Given the description of an element on the screen output the (x, y) to click on. 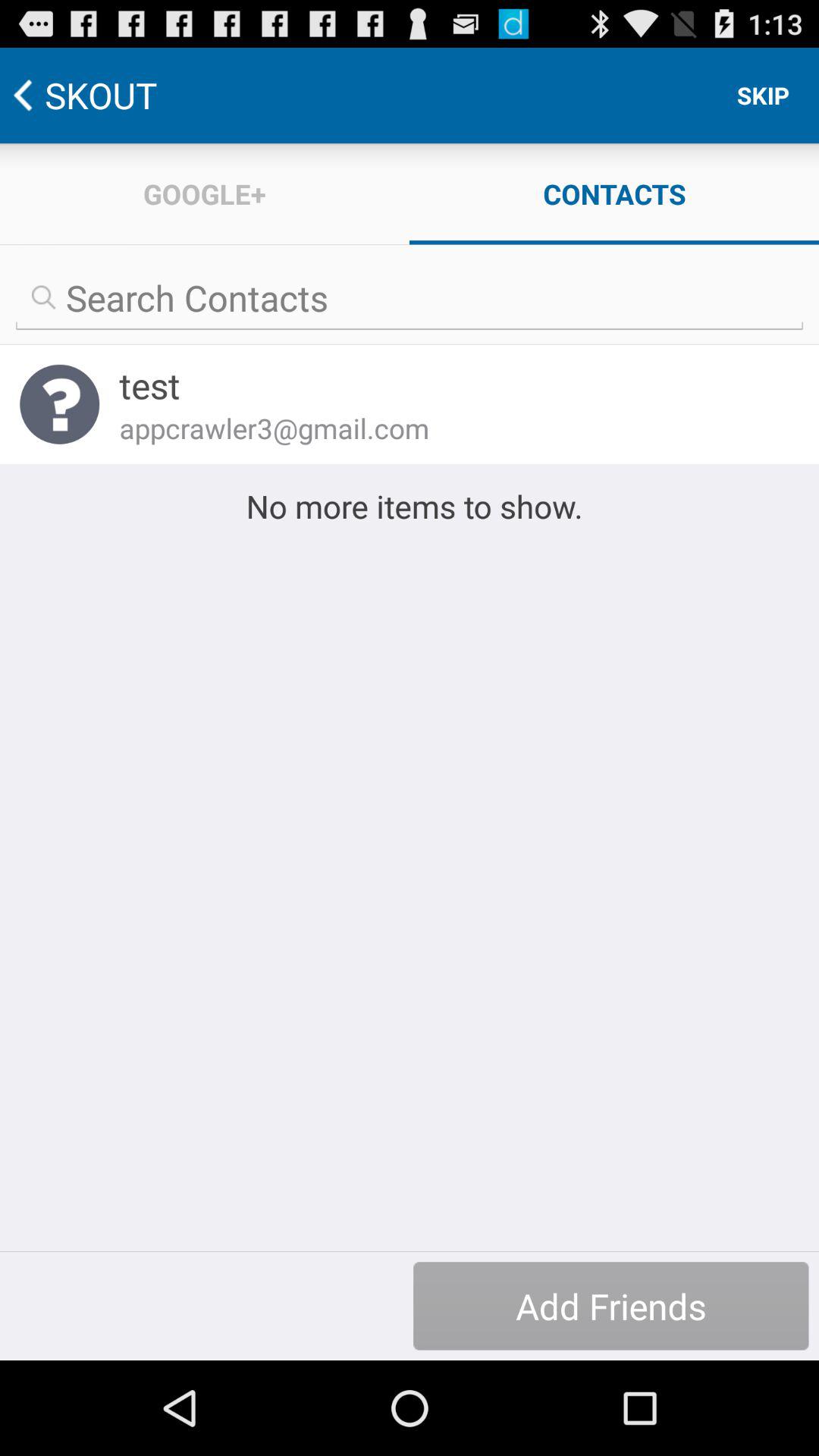
launch add friends (610, 1306)
